Given the description of an element on the screen output the (x, y) to click on. 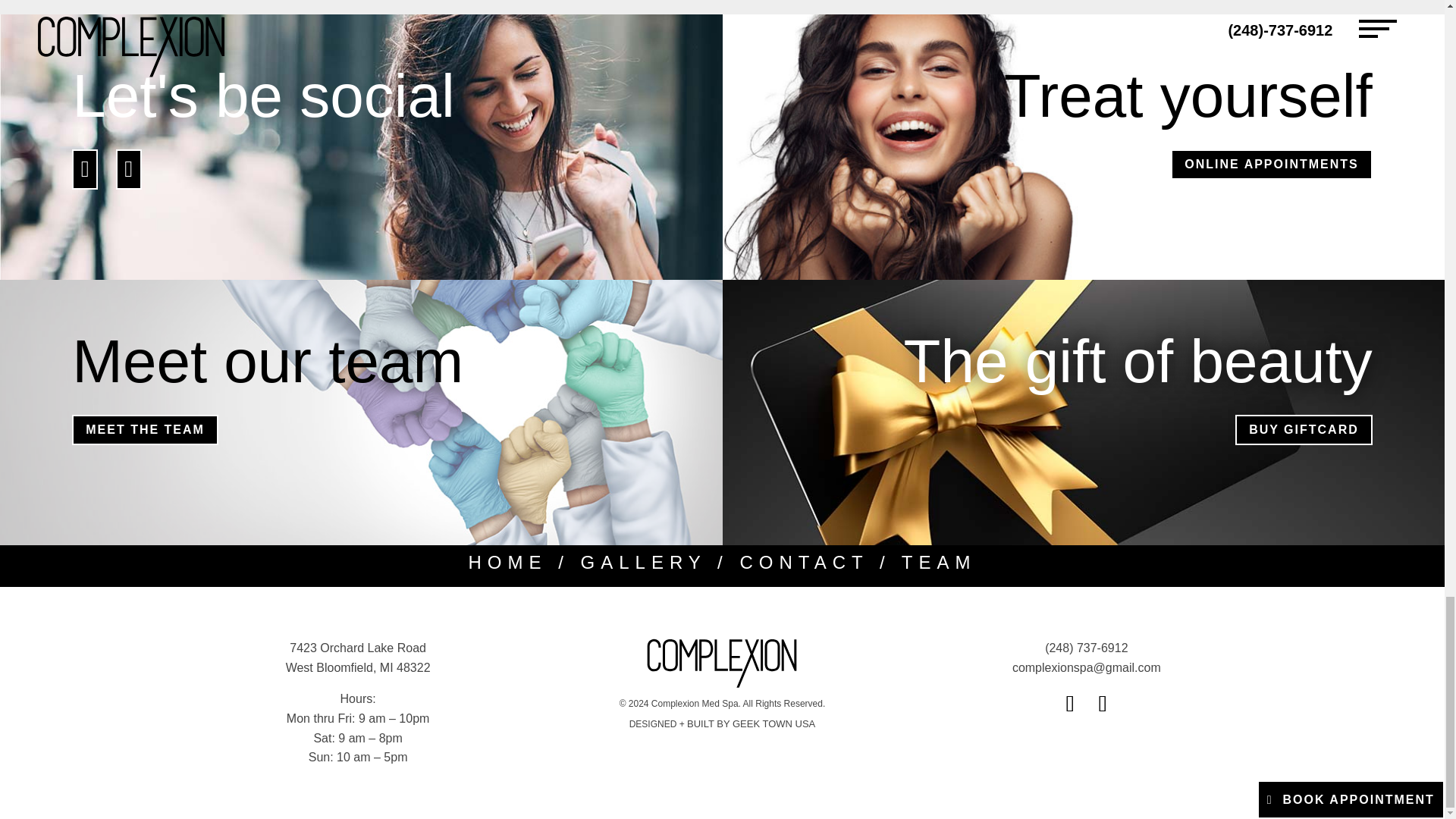
Teeth Whitining Header (128, 172)
Follow on Facebook (1069, 703)
Teeth Whitining Header (84, 172)
Follow on Instagram (1102, 703)
